Given the description of an element on the screen output the (x, y) to click on. 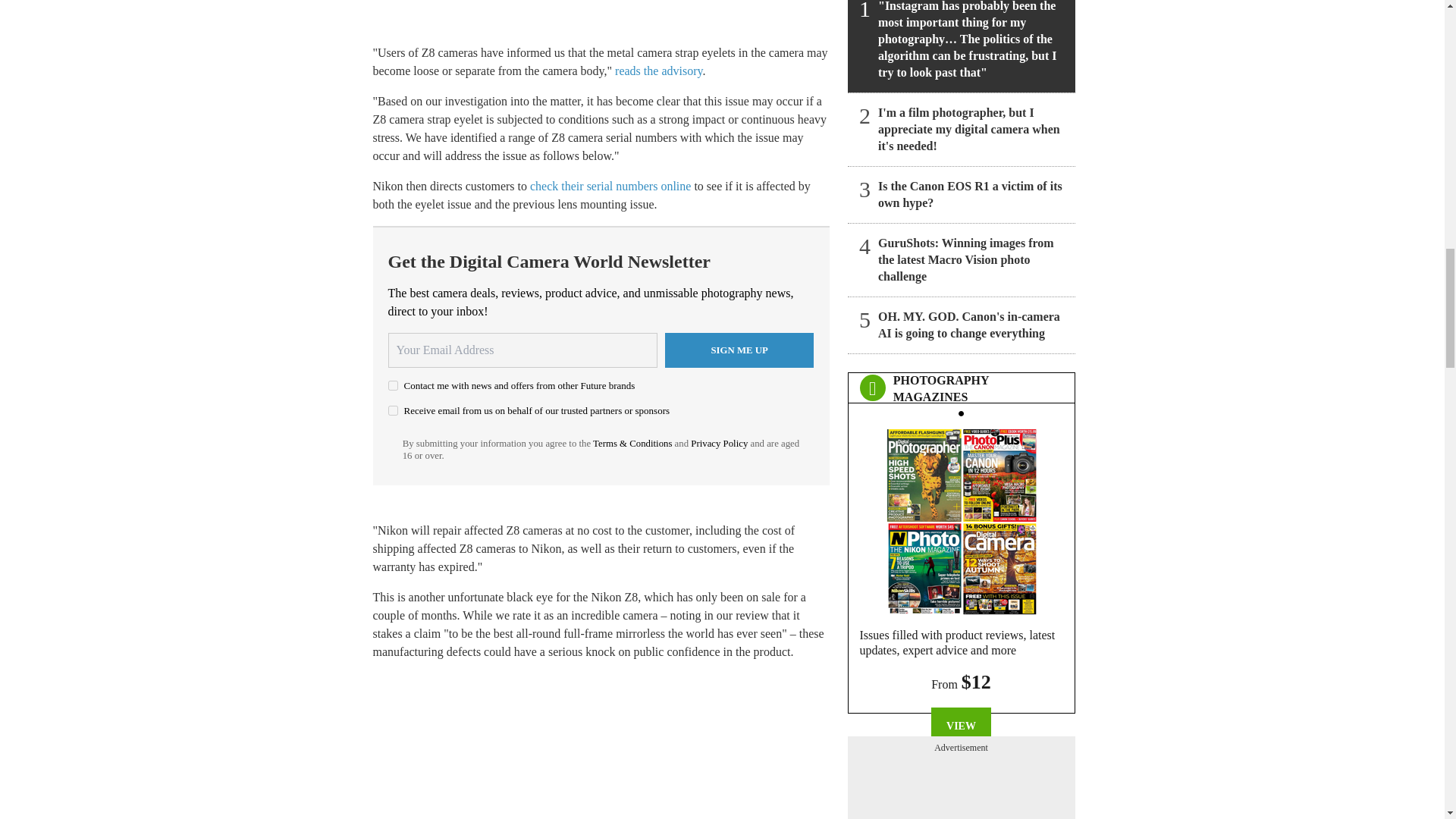
Sign me up (739, 349)
on (392, 410)
on (392, 385)
